Given the description of an element on the screen output the (x, y) to click on. 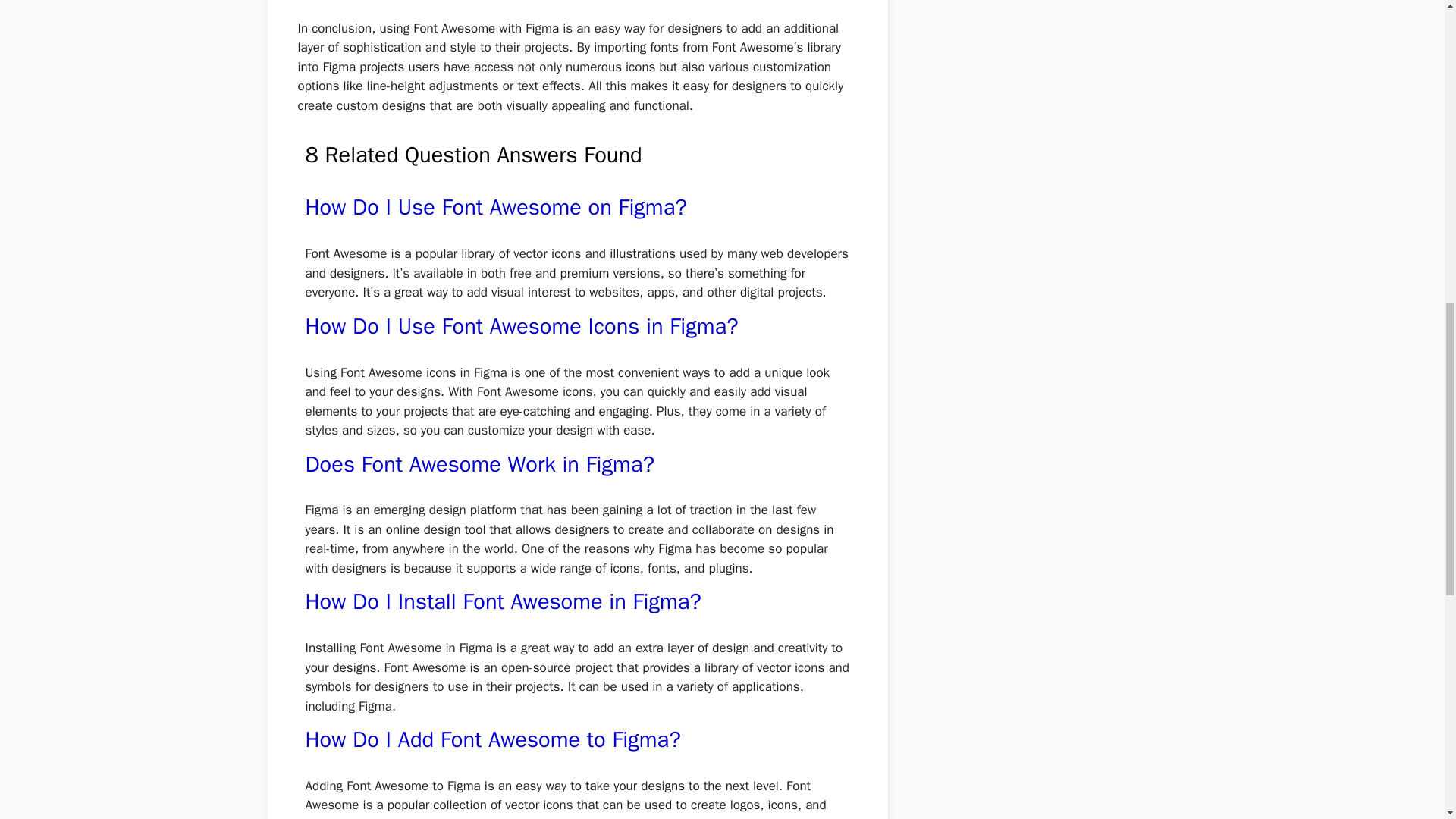
How Do I Add Font Awesome to Figma? (491, 739)
How Do I Install Font Awesome in Figma? (502, 601)
Does Font Awesome Work in Figma? (478, 464)
How Do I Use Font Awesome Icons in Figma? (521, 326)
How Do I Use Font Awesome on Figma? (494, 207)
